Given the description of an element on the screen output the (x, y) to click on. 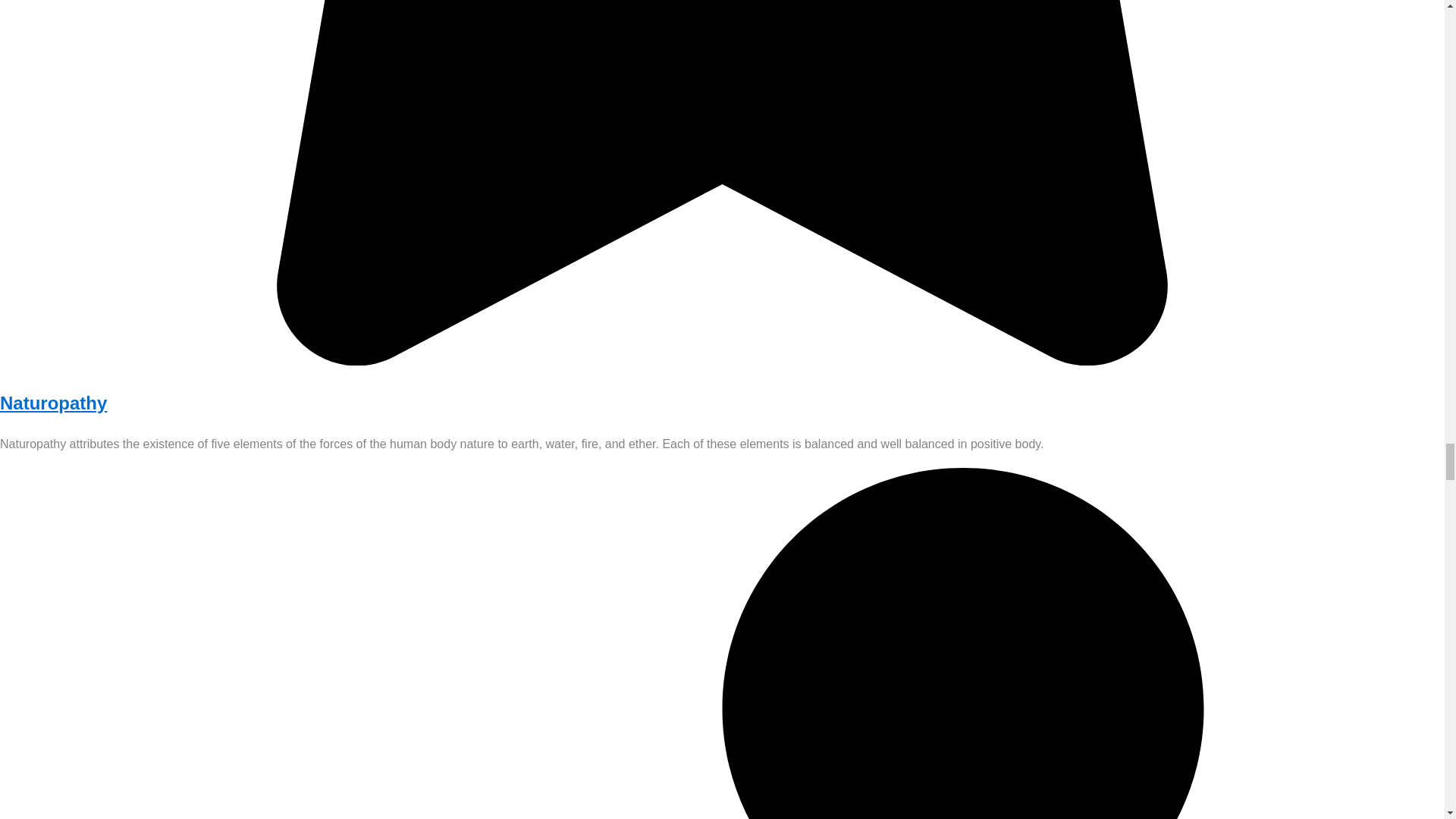
Naturopathy (53, 403)
